Given the description of an element on the screen output the (x, y) to click on. 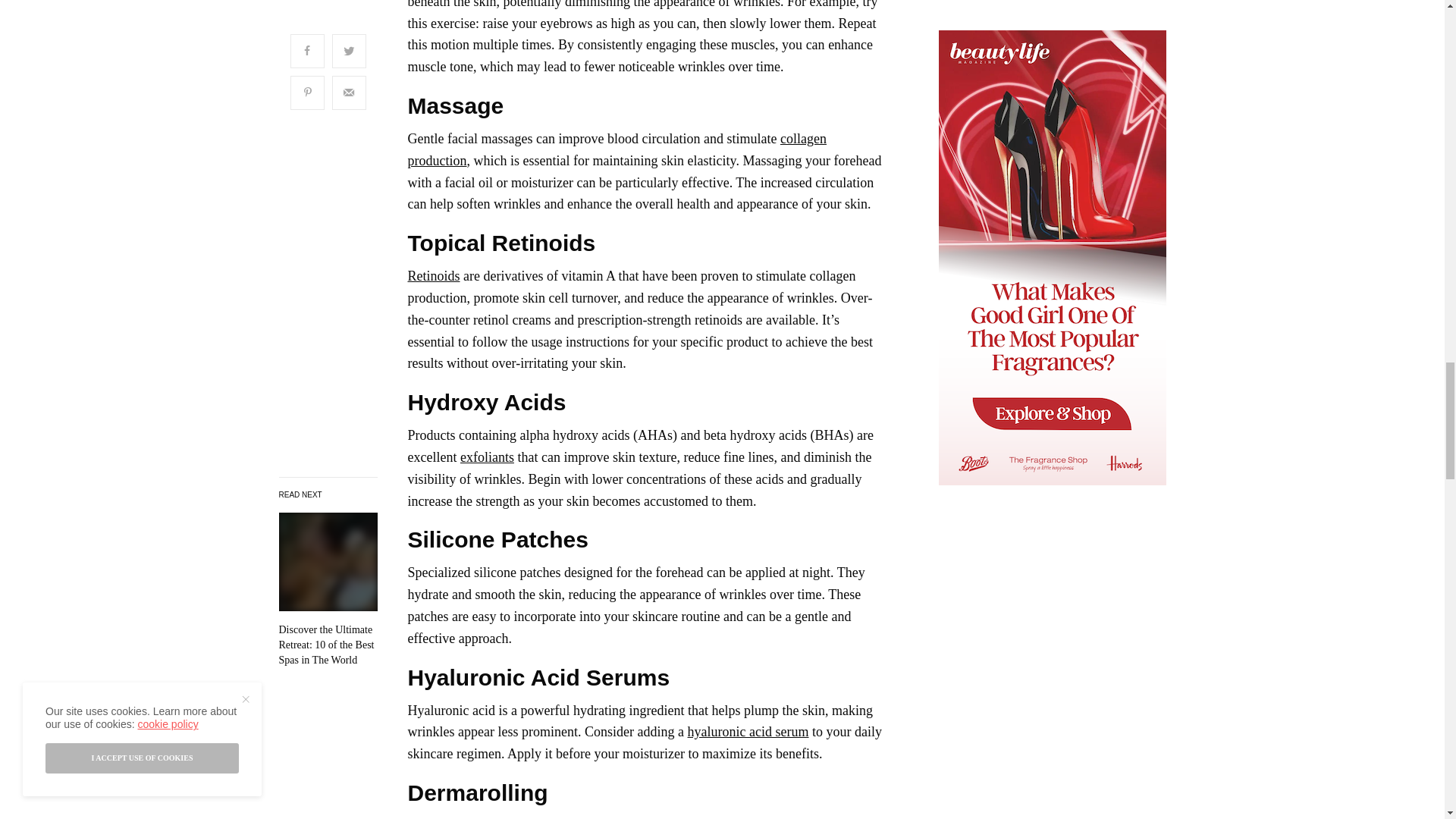
woman in spa - BeautyLife Magazine (328, 561)
How to Reduce Forehead Wrinkles without Botox (328, 644)
